Given the description of an element on the screen output the (x, y) to click on. 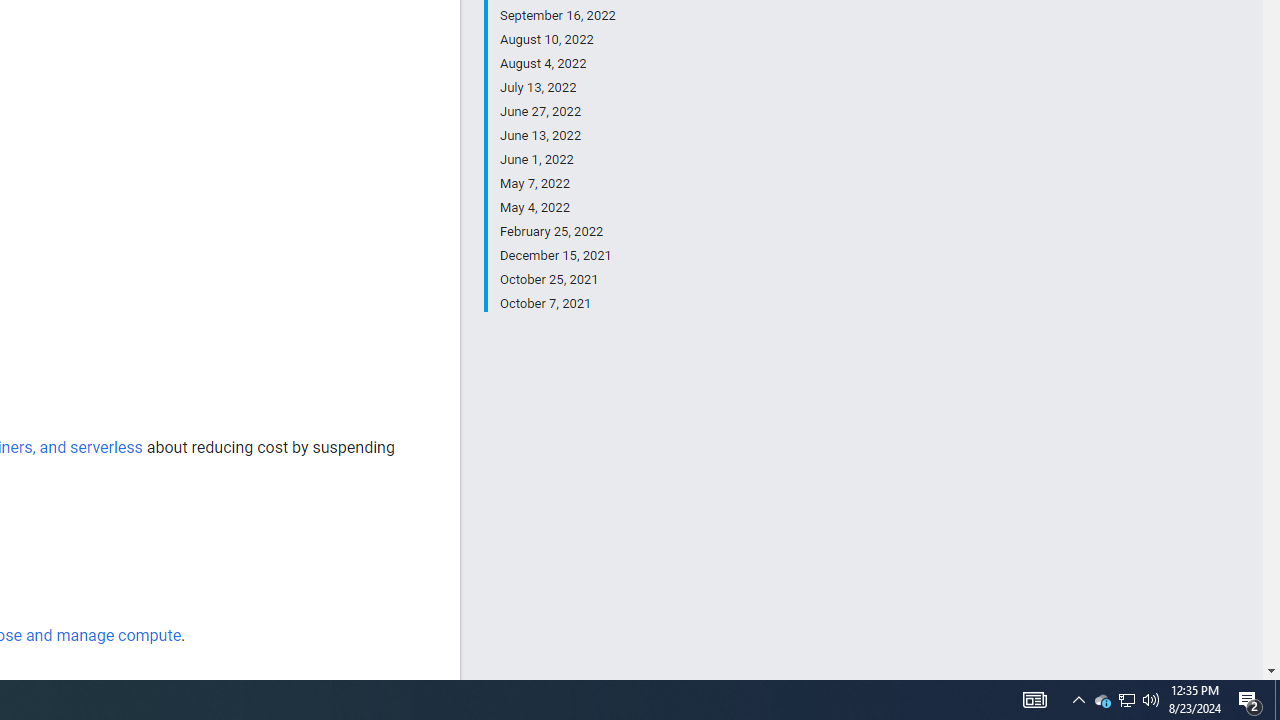
September 16, 2022 (557, 16)
December 15, 2021 (557, 255)
October 7, 2021 (557, 301)
June 27, 2022 (557, 111)
June 13, 2022 (557, 135)
August 10, 2022 (557, 39)
August 4, 2022 (557, 63)
October 25, 2021 (557, 279)
June 1, 2022 (557, 160)
July 13, 2022 (557, 88)
February 25, 2022 (557, 232)
May 7, 2022 (557, 183)
May 4, 2022 (557, 207)
